Given the description of an element on the screen output the (x, y) to click on. 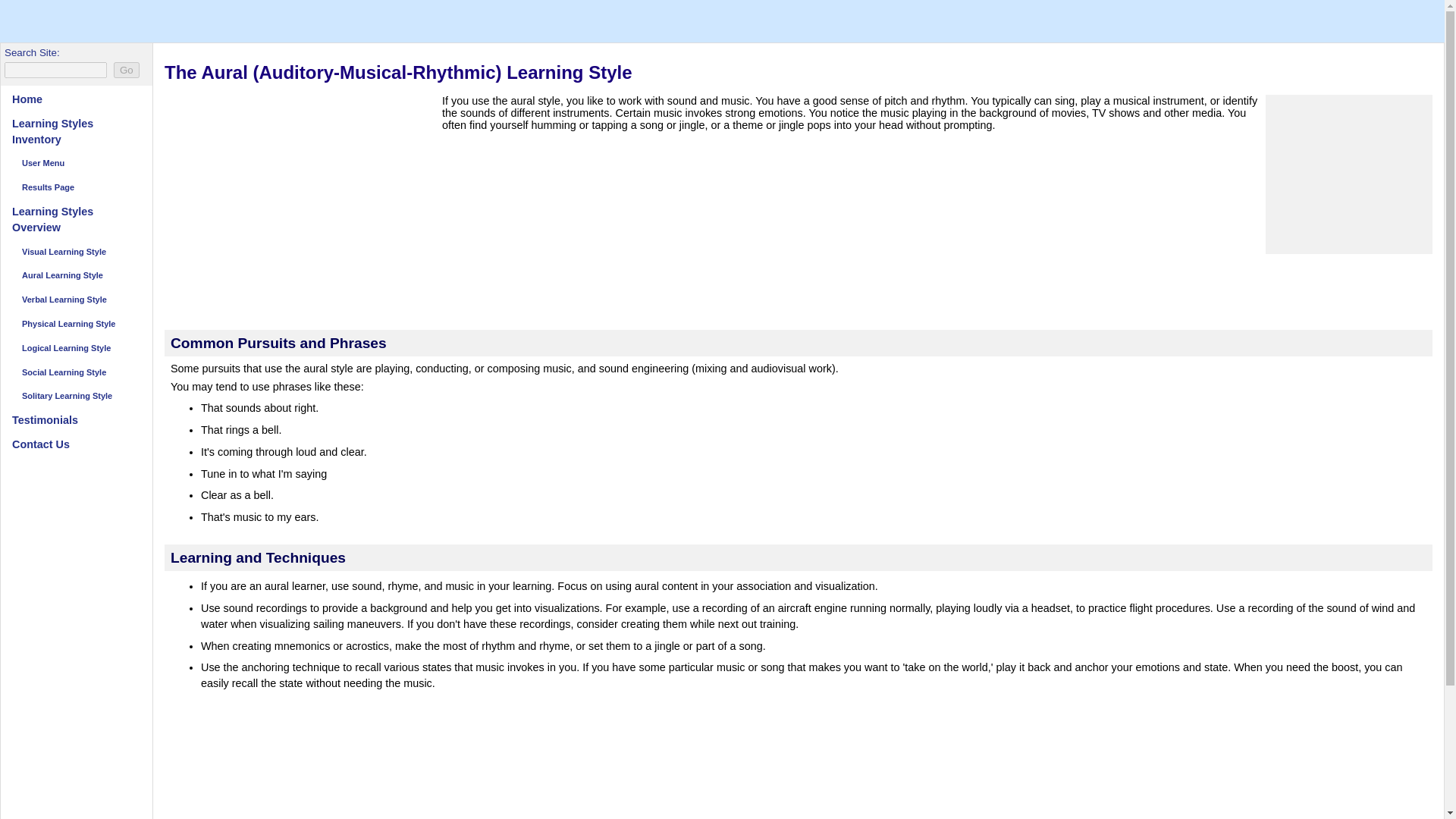
Learning Styles Inventory (76, 131)
Learning-Styles-Online.com Home Page (76, 99)
Visual Learning Style (76, 251)
Results Page (76, 187)
Verbal Learning Style (76, 299)
Overview of learning styles (76, 219)
Social Learning Style (76, 372)
User Menu (76, 163)
Learning Styles Overview (76, 219)
Solitary Learning Style (76, 395)
Testimonials (76, 420)
Go (126, 69)
Physical Learning Style (76, 323)
How to contact us (76, 444)
Home (76, 99)
